Given the description of an element on the screen output the (x, y) to click on. 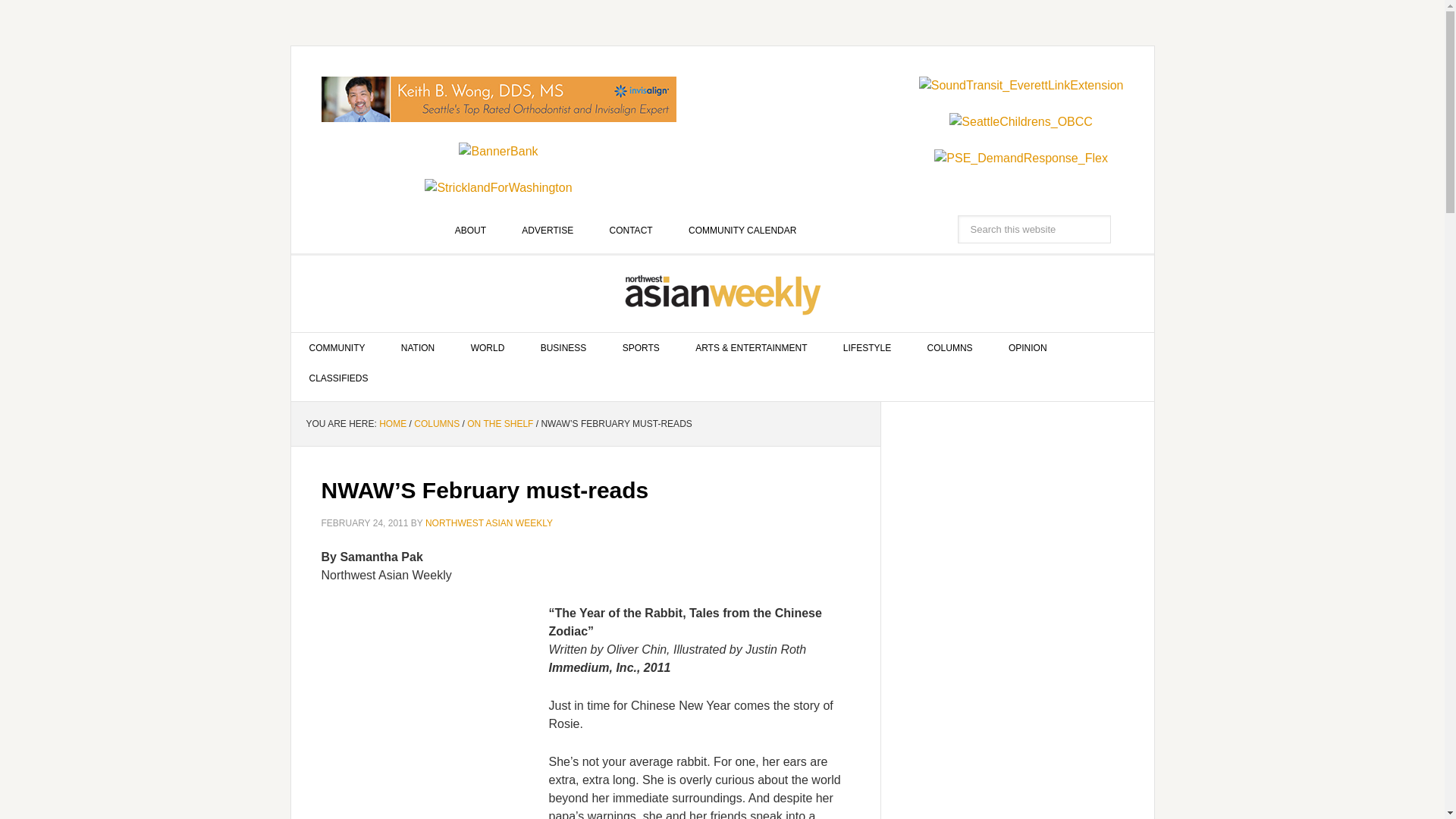
ADVERTISE (547, 230)
COMMUNITY CALENDAR (741, 230)
NORTHWEST ASIAN WEEKLY (722, 293)
BUSINESS (563, 347)
CLASSIFIEDS (339, 378)
COLUMNS (949, 347)
CONTACT (631, 230)
NATION (417, 347)
WORLD (487, 347)
